Given the description of an element on the screen output the (x, y) to click on. 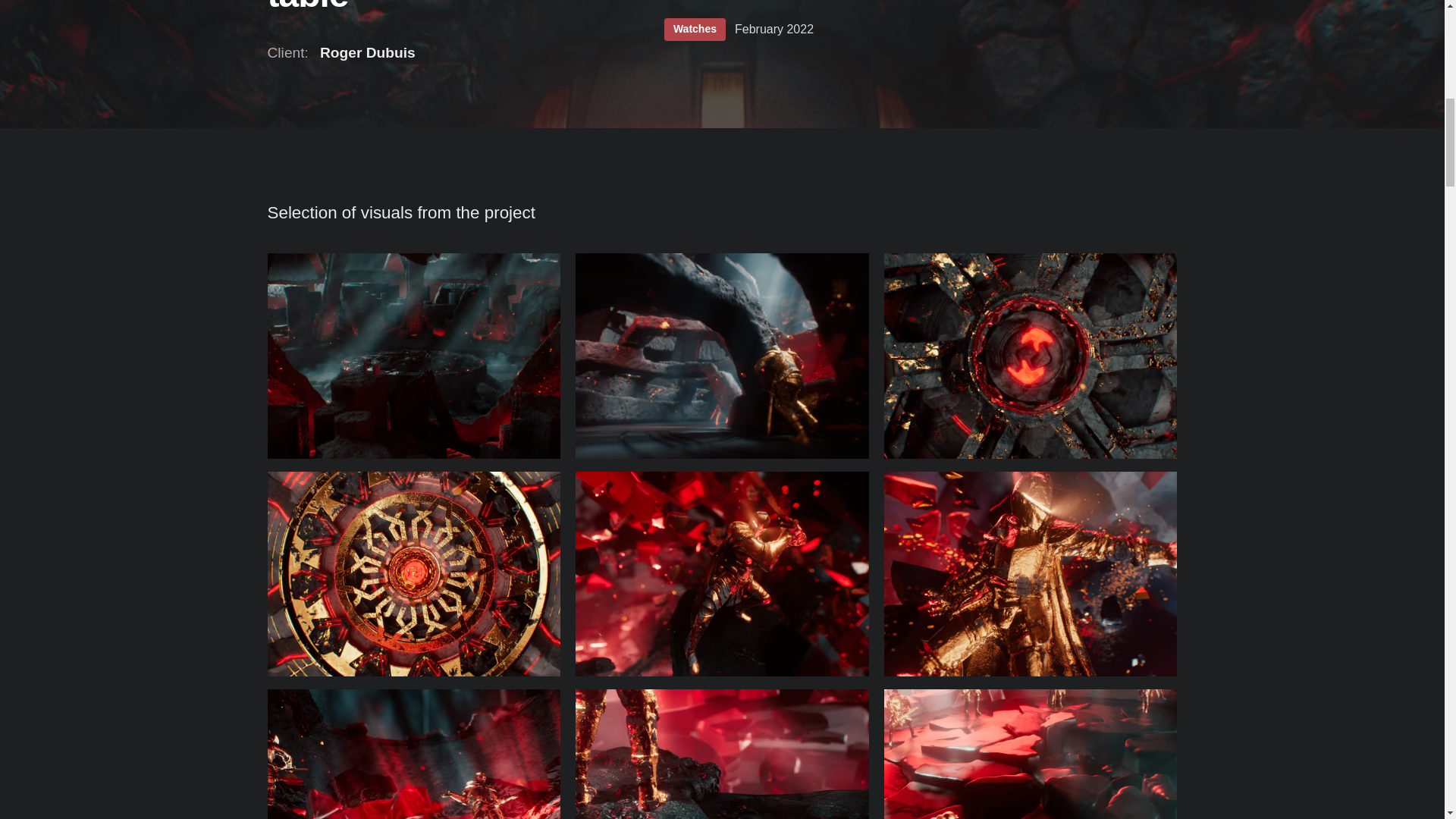
All the projects for this client (340, 56)
Enlarge Image (722, 355)
Enlarge Image (1030, 355)
Enlarge Image (722, 574)
All the projects in this category (694, 33)
Enlarge Image (1030, 574)
Enlarge Image (413, 754)
Enlarge Image (413, 574)
Watches (694, 33)
Enlarge Image (722, 754)
Enlarge Image (413, 355)
